Given the description of an element on the screen output the (x, y) to click on. 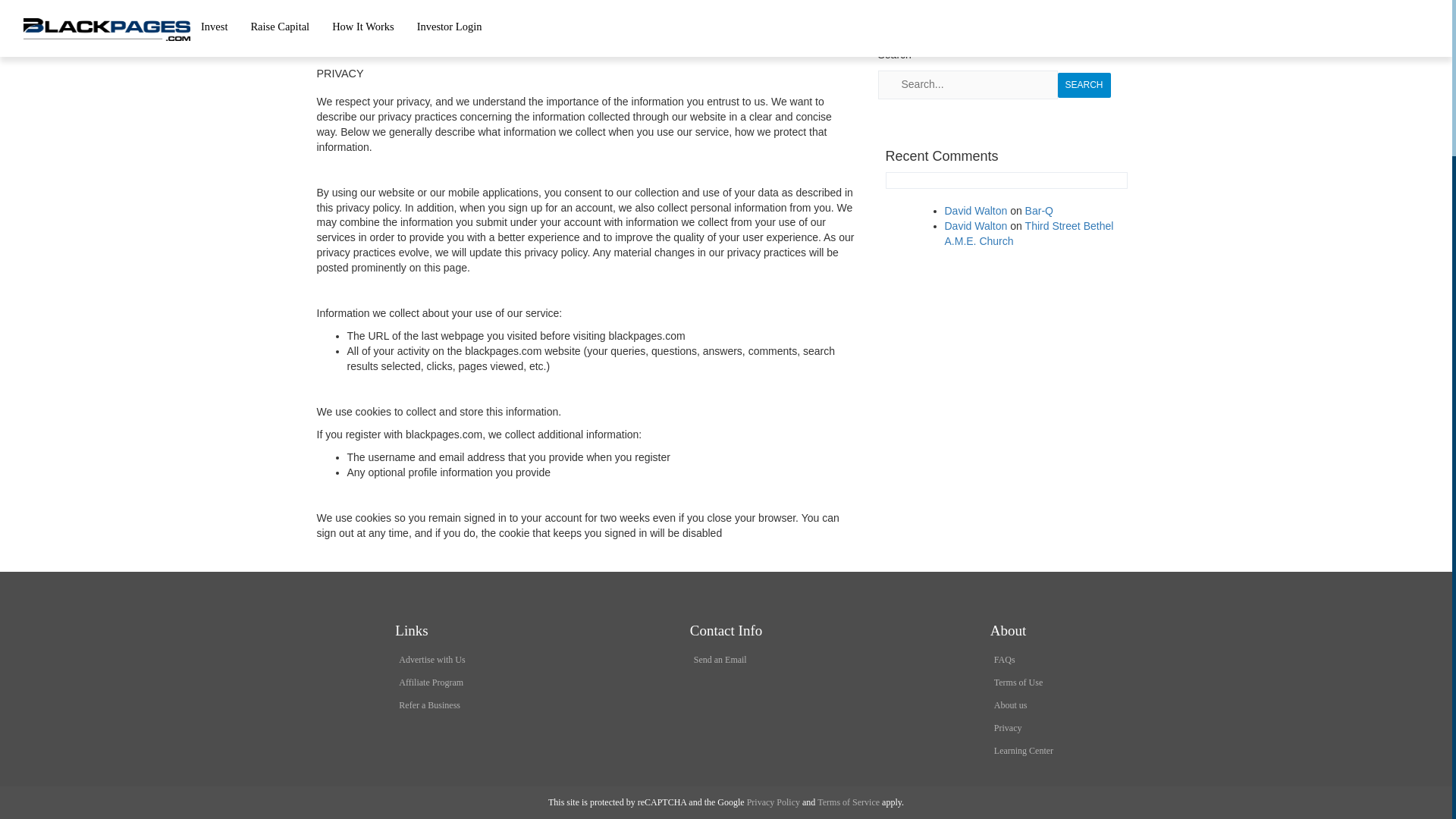
Third Street Bethel A.M.E. Church (1028, 233)
Advertise with Us (431, 659)
Terms of Use (1018, 682)
FAQs (1004, 659)
SEARCH (1083, 84)
David Walton (975, 225)
Privacy Policy (772, 801)
Send an Email (720, 659)
David Walton (975, 210)
Learning Center (1023, 750)
